Given the description of an element on the screen output the (x, y) to click on. 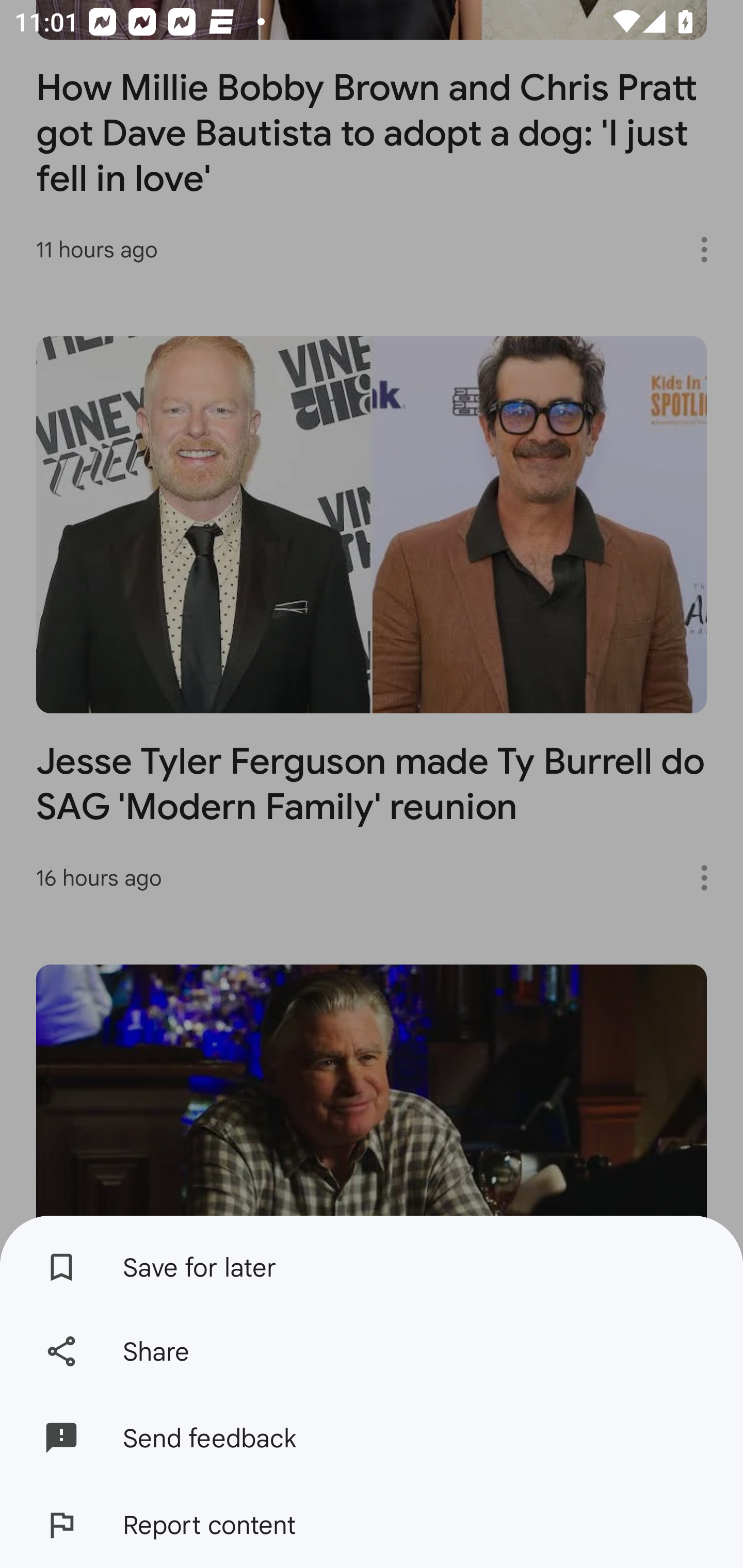
Save for later (371, 1261)
Share (371, 1350)
Send feedback (371, 1437)
Report content (371, 1524)
